Given the description of an element on the screen output the (x, y) to click on. 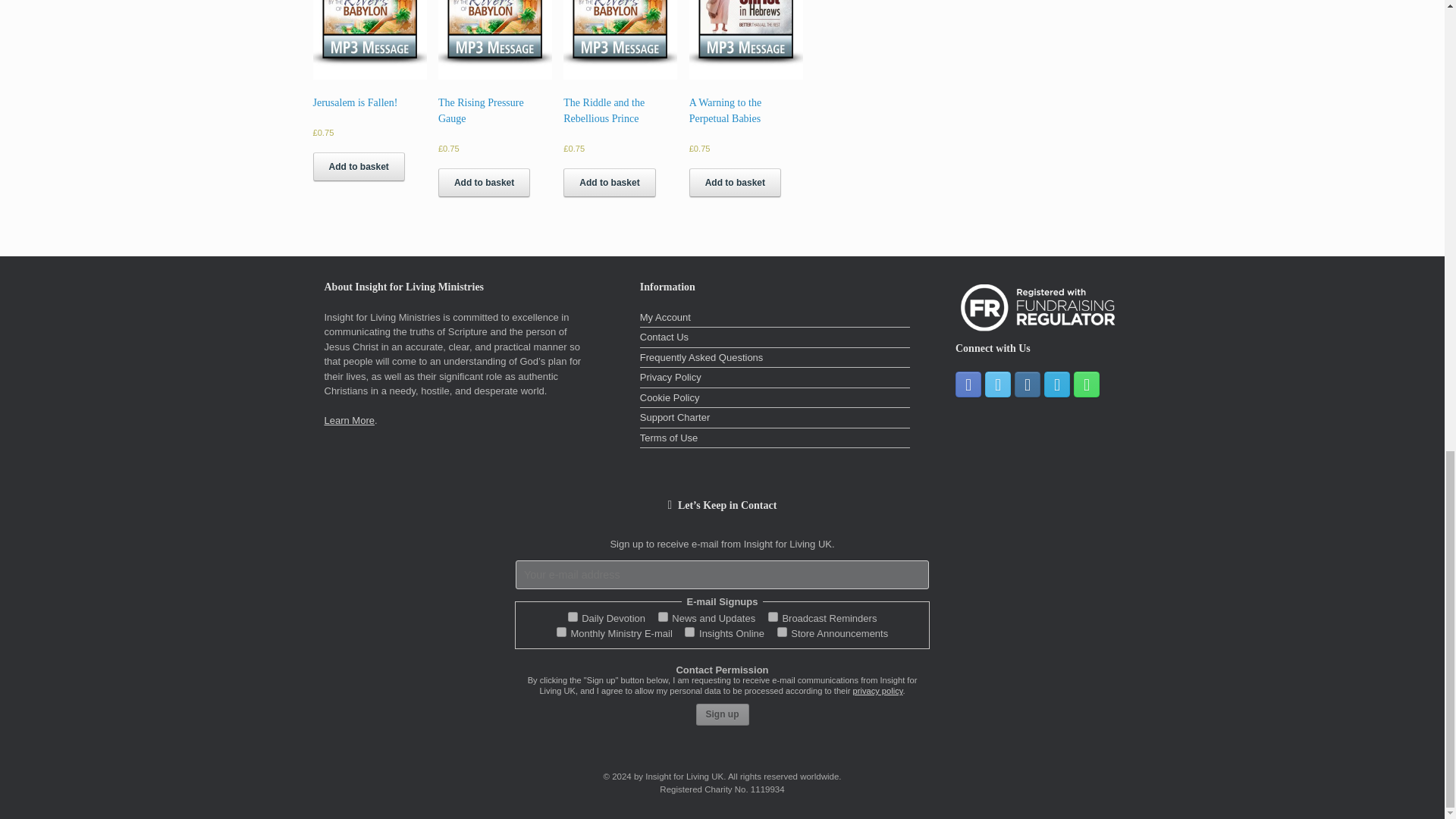
1381f3c142 (572, 616)
8aa1cd39e9 (663, 616)
06e8659ebd (782, 632)
Insight for Living UK E-mail (1056, 384)
0a9ff70a2b (561, 632)
Insight for Living UK Phone (1086, 384)
Sign up (722, 714)
f2dd2ce7c2 (772, 616)
cb1e5bd49c (689, 632)
Insight for Living UK Instagram (1027, 384)
Insight for Living UK Facebook (968, 384)
